Given the description of an element on the screen output the (x, y) to click on. 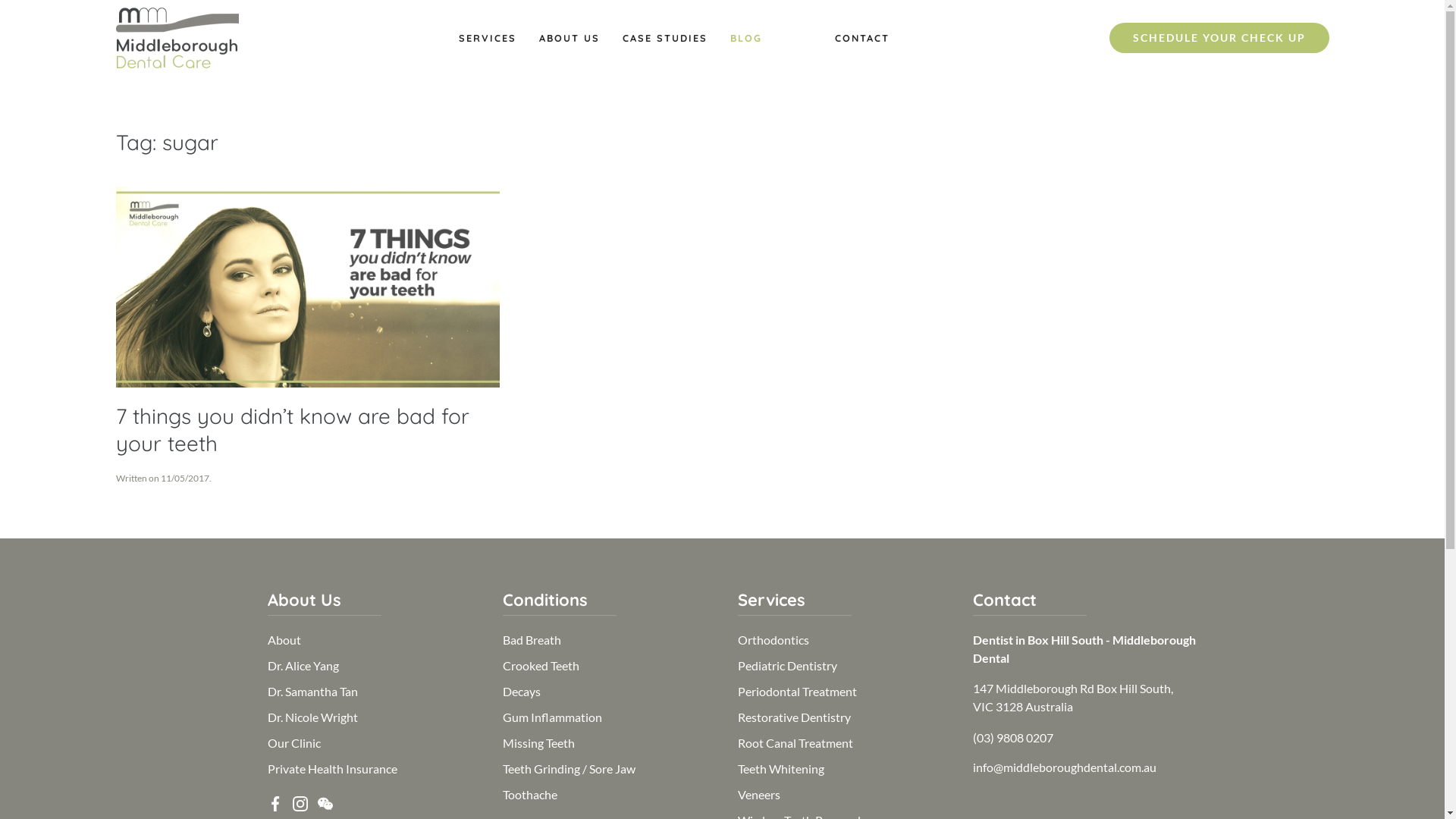
Dr. Nicole Wright Element type: text (311, 716)
Our Clinic Element type: text (293, 742)
Restorative Dentistry Element type: text (793, 716)
Private Health Insurance Element type: text (331, 768)
Crooked Teeth Element type: text (540, 665)
Services Element type: text (770, 599)
SCHEDULE YOUR CHECK UP Element type: text (1218, 37)
Gum Inflammation Element type: text (551, 716)
Orthodontics Element type: text (772, 639)
CASE STUDIES Element type: text (663, 37)
Contact Element type: text (1003, 599)
About Element type: text (283, 639)
Conditions Element type: text (544, 599)
Pediatric Dentistry Element type: text (786, 665)
147 Middleborough Rd Box Hill South, VIC 3128 Australia Element type: text (1072, 696)
Teeth Whitening Element type: text (780, 768)
Root Canal Treatment Element type: text (794, 742)
Periodontal Treatment Element type: text (796, 691)
About Us Element type: text (303, 599)
Teeth Grinding / Sore Jaw Element type: text (568, 768)
info@middleboroughdental.com.au Element type: text (1063, 766)
(03) 9808 0207 Element type: text (1012, 737)
Dr. Samantha Tan Element type: text (311, 691)
Missing Teeth Element type: text (538, 742)
BLOG Element type: text (745, 37)
SERVICES Element type: text (486, 37)
ABOUT US Element type: text (568, 37)
Dr. Alice Yang Element type: text (302, 665)
Veneers Element type: text (758, 794)
Bad Breath Element type: text (531, 639)
CONTACT Element type: text (861, 37)
Decays Element type: text (520, 691)
Toothache Element type: text (529, 794)
